Given the description of an element on the screen output the (x, y) to click on. 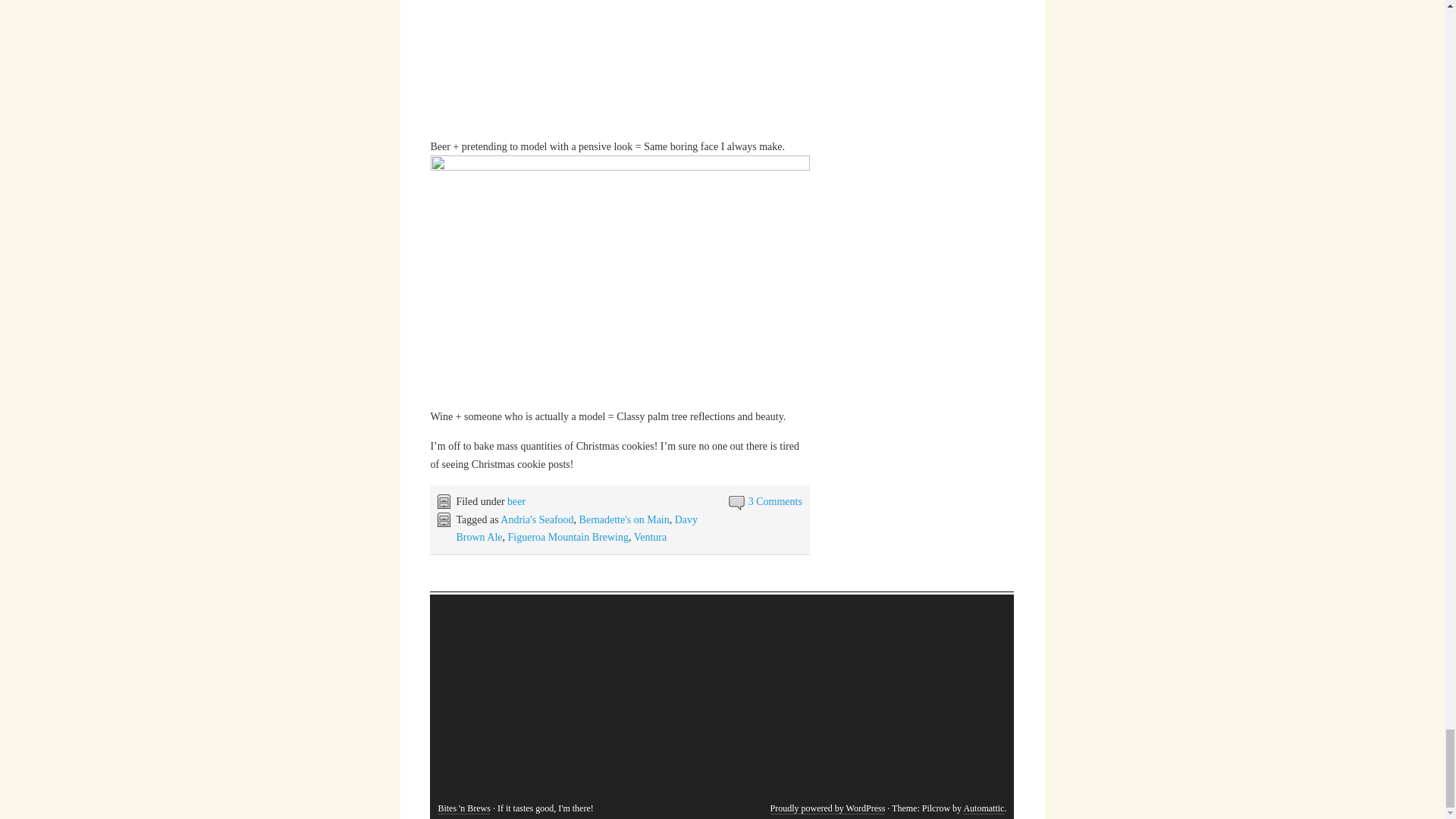
am10 (619, 68)
am12 (619, 280)
